Given the description of an element on the screen output the (x, y) to click on. 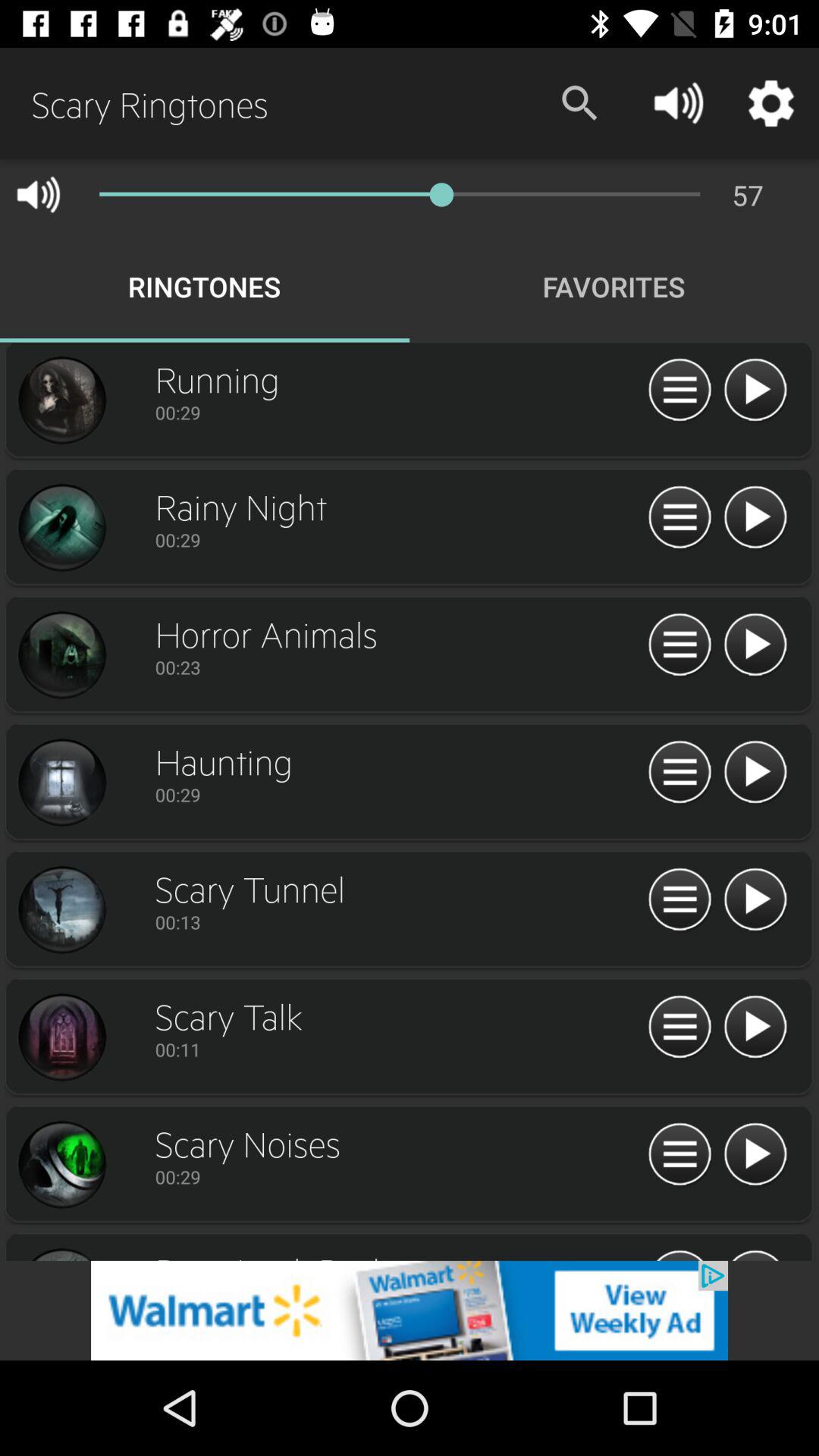
play rainy night (755, 517)
